Given the description of an element on the screen output the (x, y) to click on. 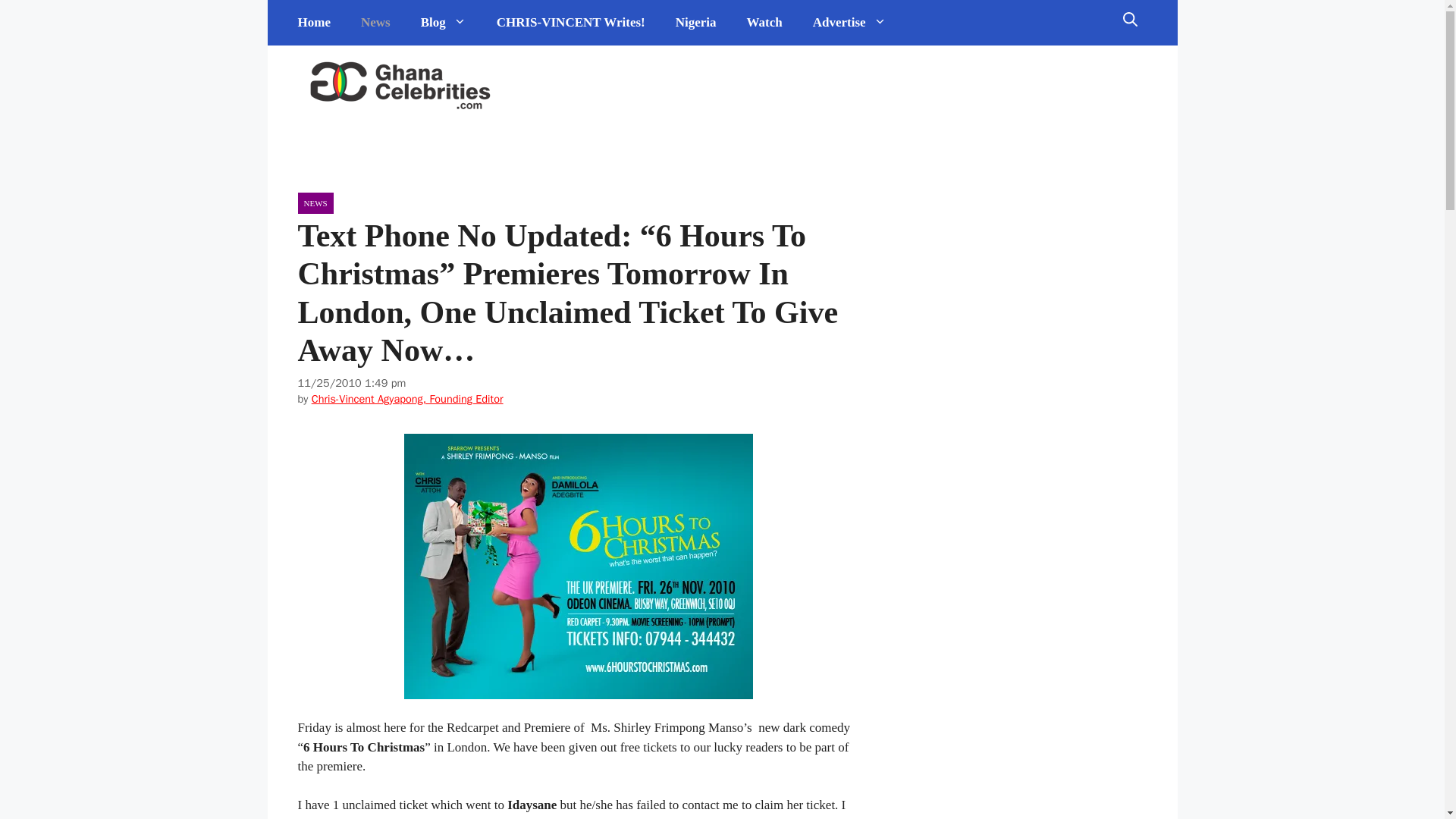
CHRIS-VINCENT Writes! (571, 22)
Watch (764, 22)
Home (313, 22)
GhanaCelebrities.Com (400, 86)
Blog (443, 22)
Advertise (849, 22)
View all posts by Chris-Vincent Agyapong, Founding Editor (407, 398)
News (376, 22)
Nigeria (696, 22)
